Given the description of an element on the screen output the (x, y) to click on. 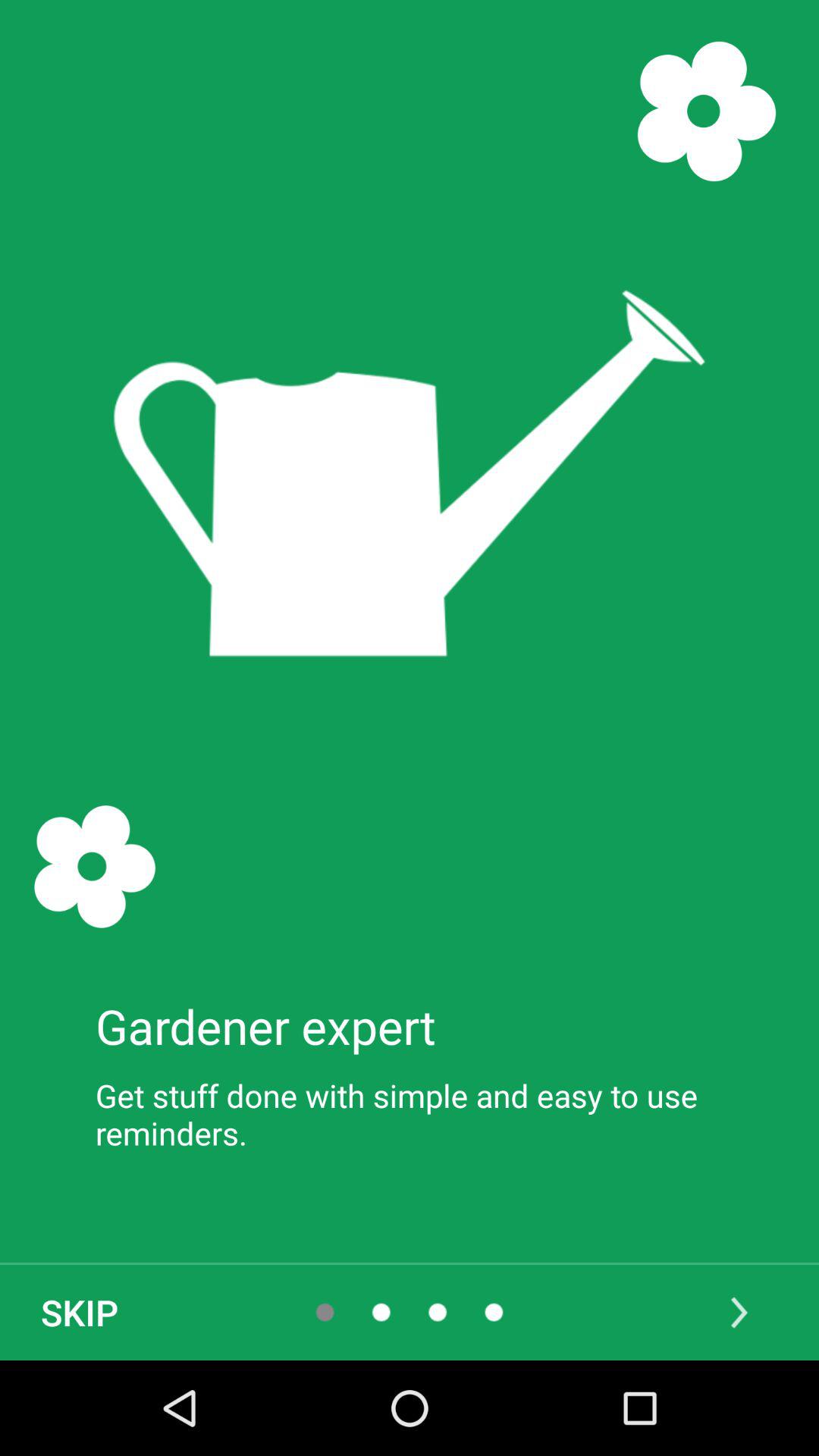
scroll to skip icon (79, 1312)
